Given the description of an element on the screen output the (x, y) to click on. 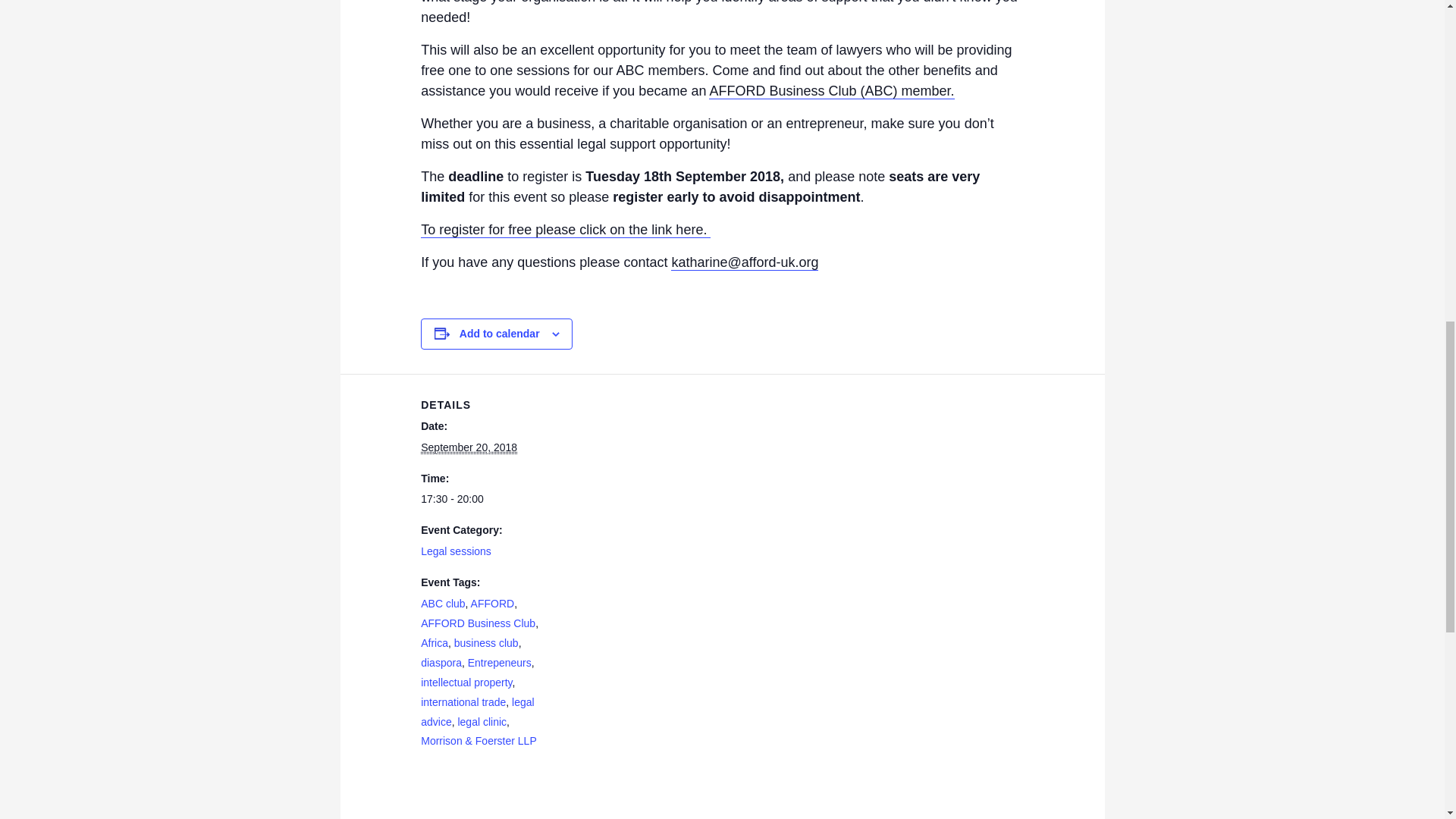
2018-09-20 (468, 447)
2018-09-20 (484, 499)
ABC Member Benefits (831, 91)
